Given the description of an element on the screen output the (x, y) to click on. 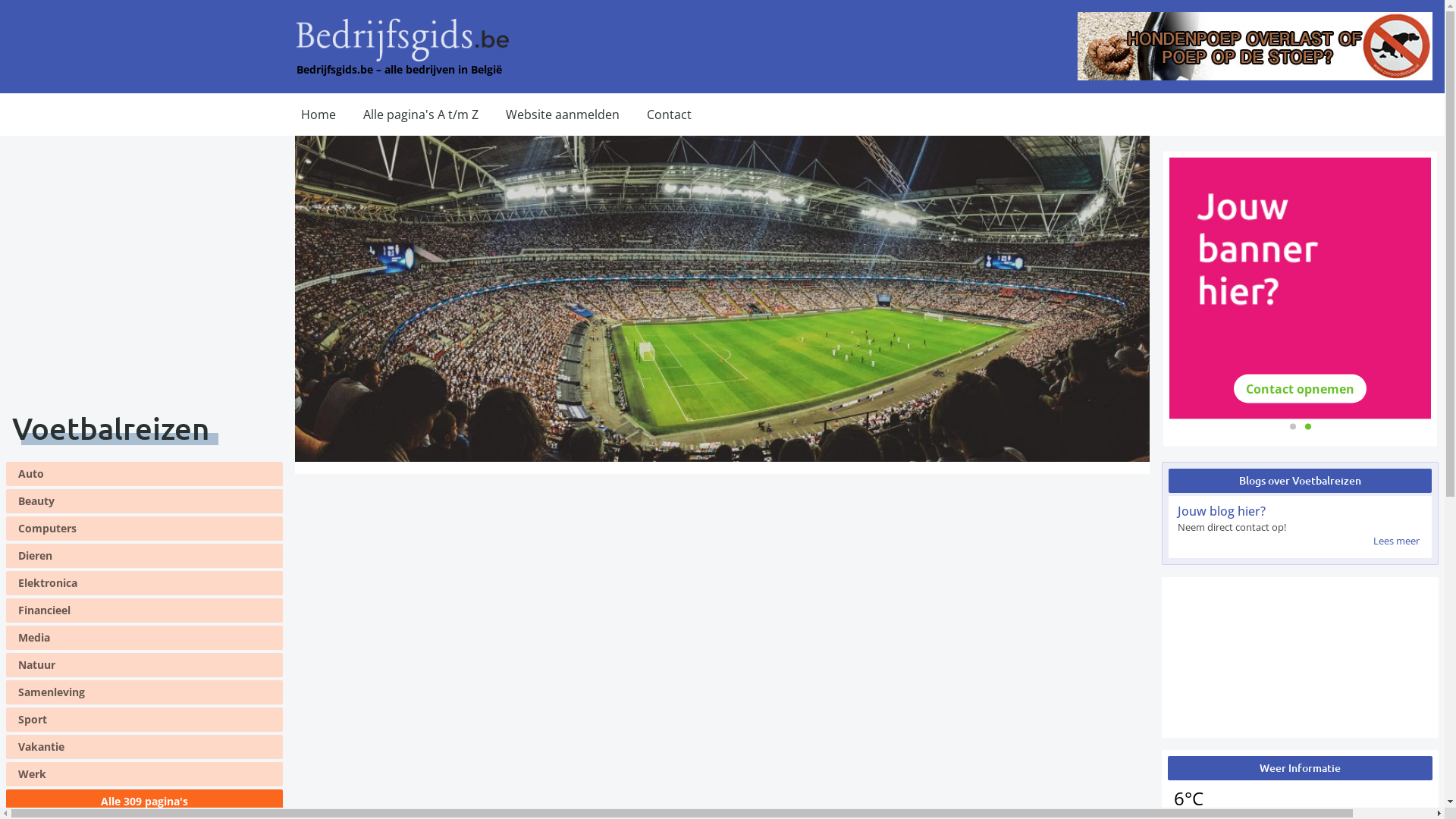
Werk Element type: text (144, 774)
Computers Element type: text (144, 528)
Home Element type: text (318, 114)
Alle 309 pagina's Element type: text (144, 801)
Vakantie Element type: text (144, 746)
M&M WebMedia animatievideo Element type: hover (1299, 657)
Natuur Element type: text (144, 664)
Jouw blog hier?
Neem direct contact op!
Lees meer Element type: text (1299, 526)
Alle pagina's A t/m Z Element type: text (420, 114)
Contact opnemen Element type: text (1299, 387)
Dieren Element type: text (144, 555)
Media Element type: text (144, 637)
Sport Element type: text (144, 719)
Samenleving Element type: text (144, 692)
Beauty Element type: text (144, 501)
Contact Element type: text (668, 114)
Financieel Element type: text (144, 610)
Elektronica Element type: text (144, 583)
Auto Element type: text (144, 473)
1 Element type: text (1292, 426)
2 Element type: text (1307, 426)
Website aanmelden Element type: text (562, 114)
